Given the description of an element on the screen output the (x, y) to click on. 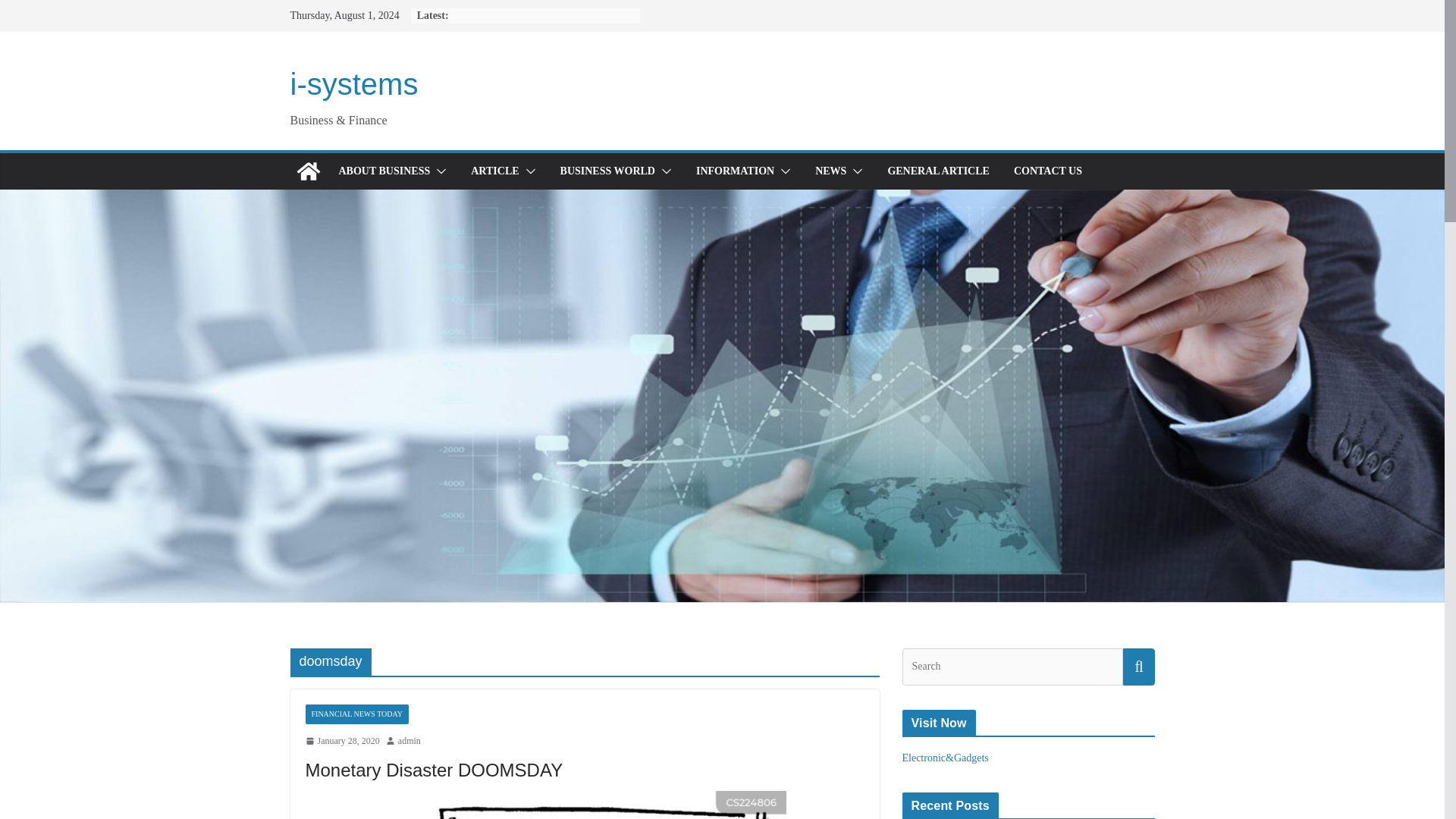
GENERAL ARTICLE (938, 170)
ARTICLE (494, 170)
5:00 am (341, 741)
CONTACT US (1047, 170)
Monetary Disaster DOOMSDAY (433, 770)
INFORMATION (734, 170)
BUSINESS WORLD (607, 170)
i-systems (307, 171)
January 28, 2020 (341, 741)
admin (408, 741)
i-systems (353, 83)
NEWS (830, 170)
ABOUT BUSINESS (383, 170)
i-systems (353, 83)
Monetary Disaster DOOMSDAY (433, 770)
